Given the description of an element on the screen output the (x, y) to click on. 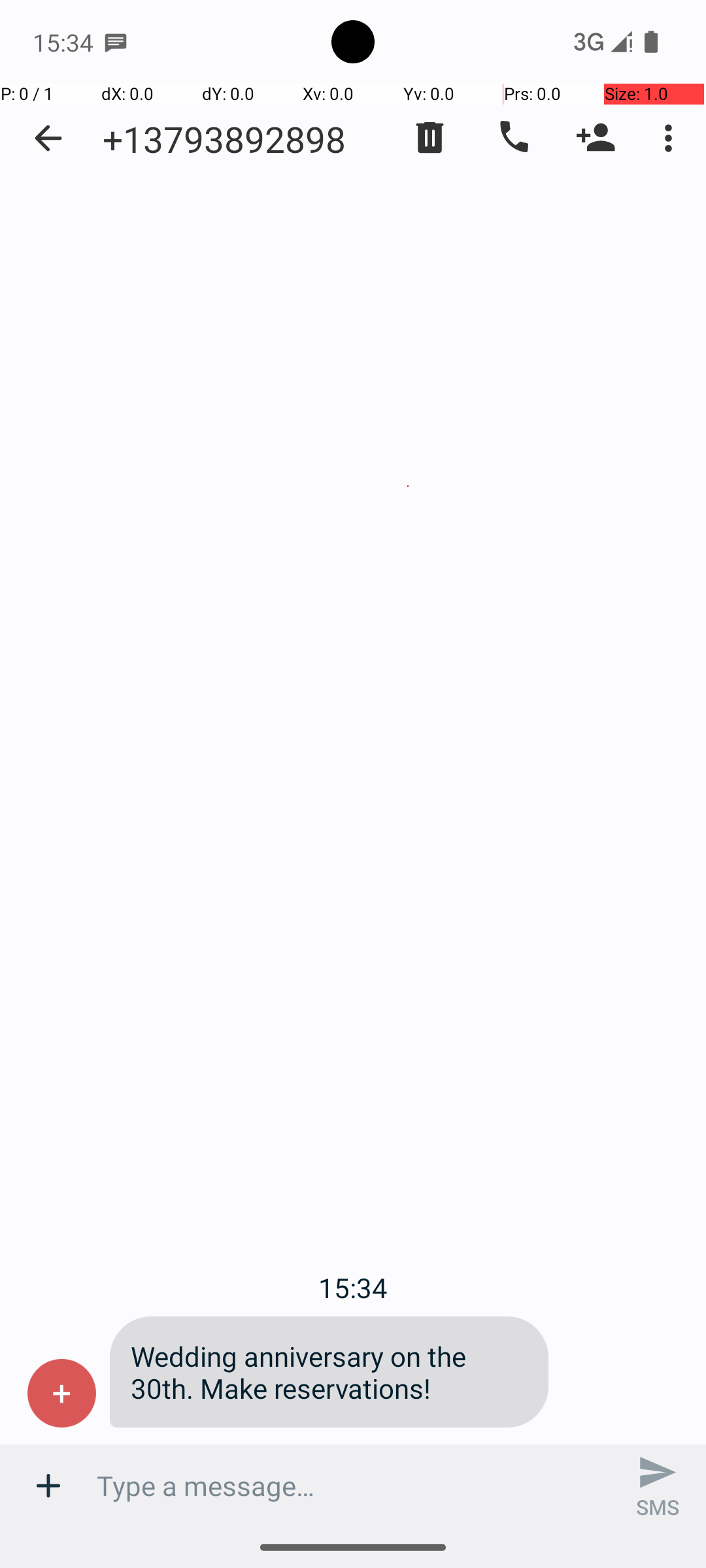
+13793892898 Element type: android.widget.TextView (223, 138)
Dial number Element type: android.widget.Button (512, 137)
Add Person Element type: android.widget.Button (595, 137)
Attachment Element type: android.widget.ImageView (48, 1485)
Type a message… Element type: android.widget.EditText (352, 1485)
SMS Element type: android.widget.Button (657, 1485)
Wedding anniversary on the 30th. Make reservations! Element type: android.widget.TextView (328, 1371)
